Given the description of an element on the screen output the (x, y) to click on. 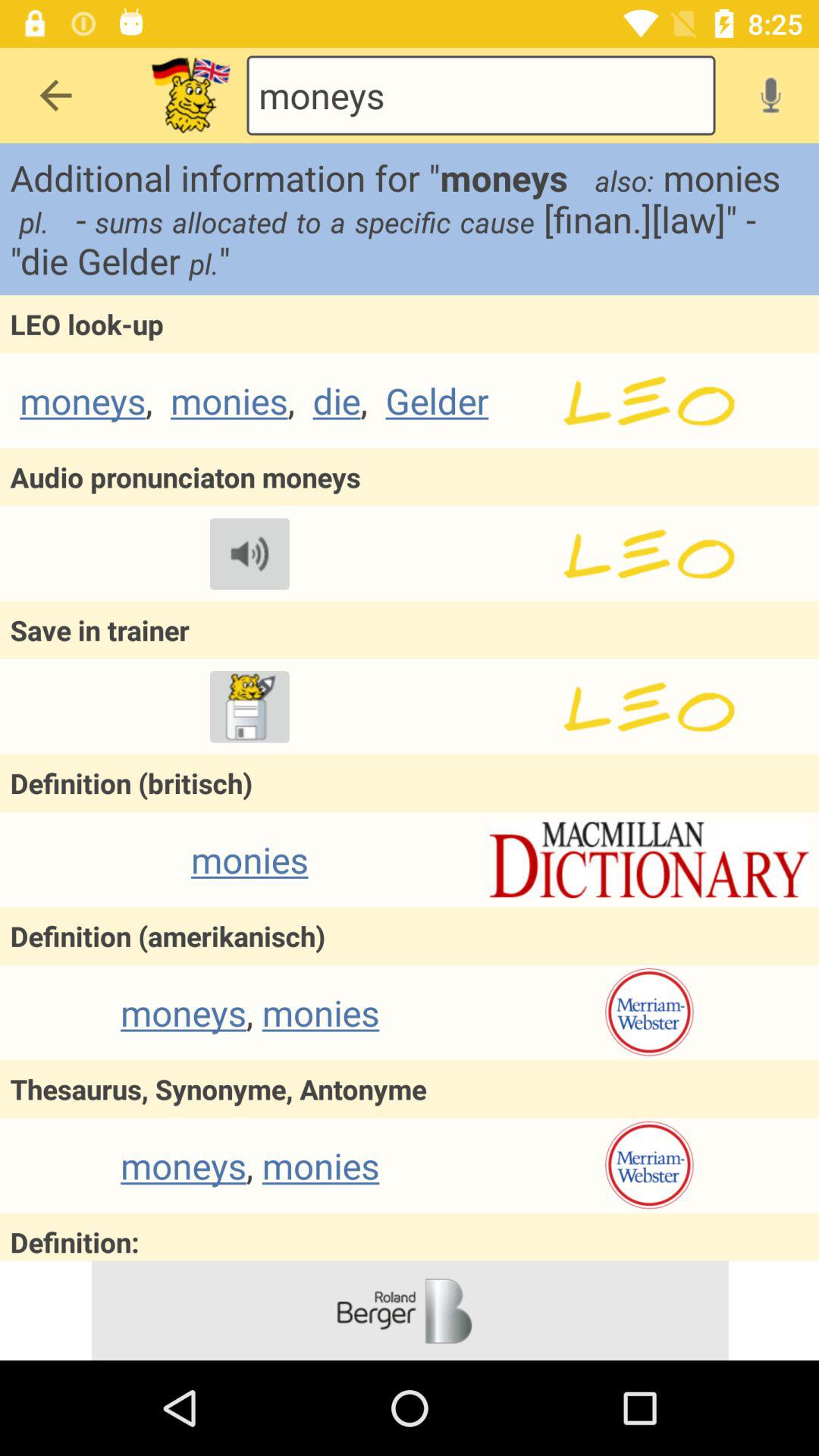
toggles record (770, 94)
